Given the description of an element on the screen output the (x, y) to click on. 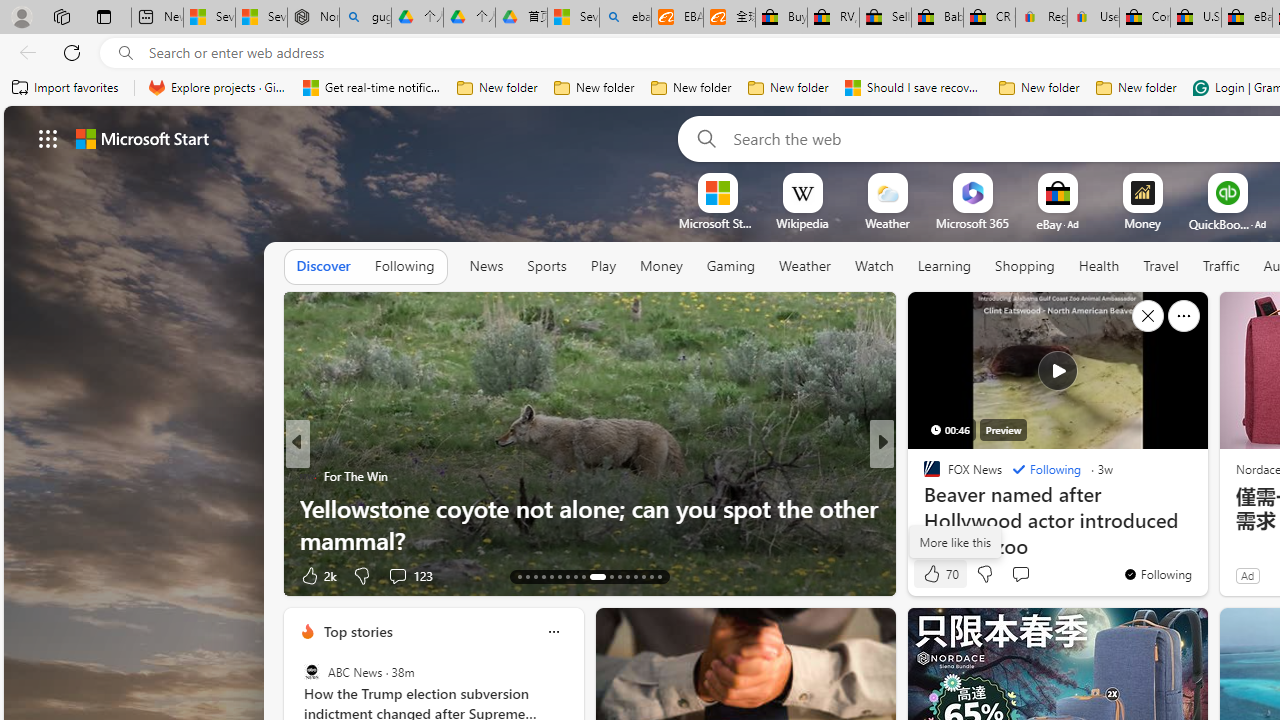
View comments 6 Comment (1019, 574)
Learning (944, 265)
AutomationID: tab-24 (619, 576)
AutomationID: tab-18 (559, 576)
AutomationID: tab-15 (535, 576)
